Given the description of an element on the screen output the (x, y) to click on. 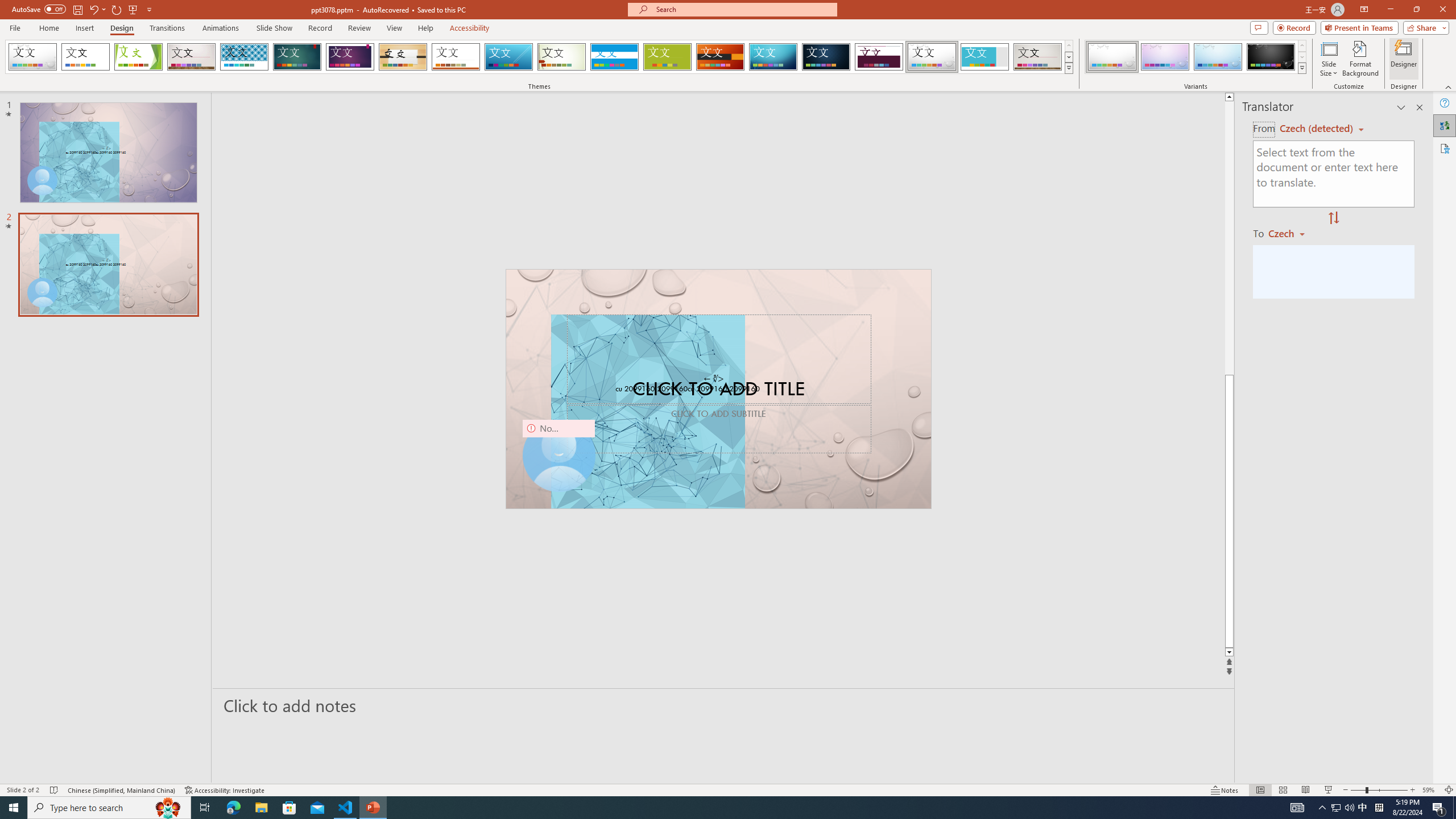
Retrospect (455, 56)
Damask (826, 56)
Wisp (561, 56)
Organic (403, 56)
Droplet Variant 4 (1270, 56)
Basis (667, 56)
Droplet Variant 2 (1164, 56)
